Given the description of an element on the screen output the (x, y) to click on. 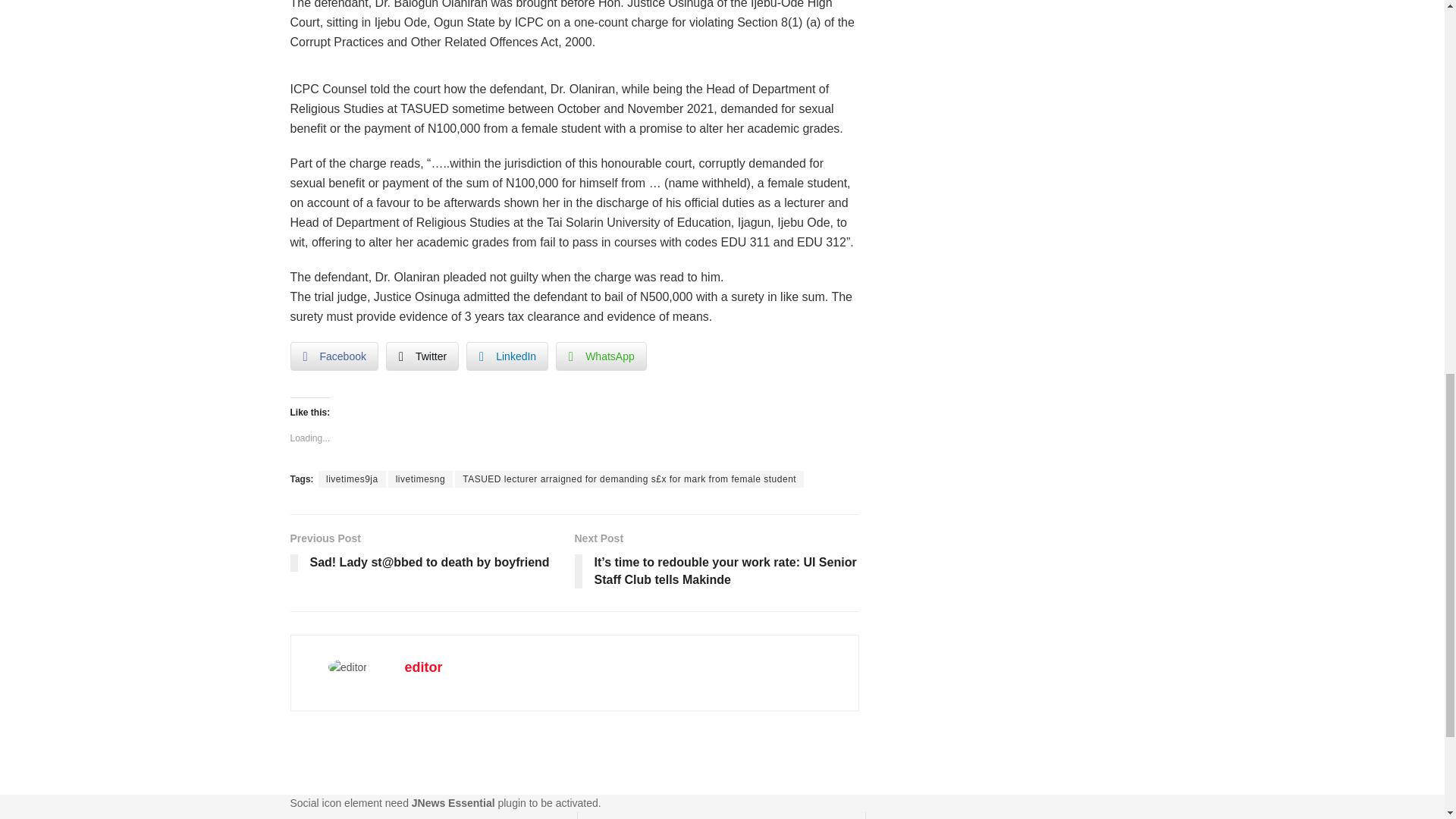
LinkedIn (506, 356)
Facebook (333, 356)
livetimes9ja (351, 478)
livetimesng (420, 478)
Twitter (421, 356)
WhatsApp (601, 356)
